Given the description of an element on the screen output the (x, y) to click on. 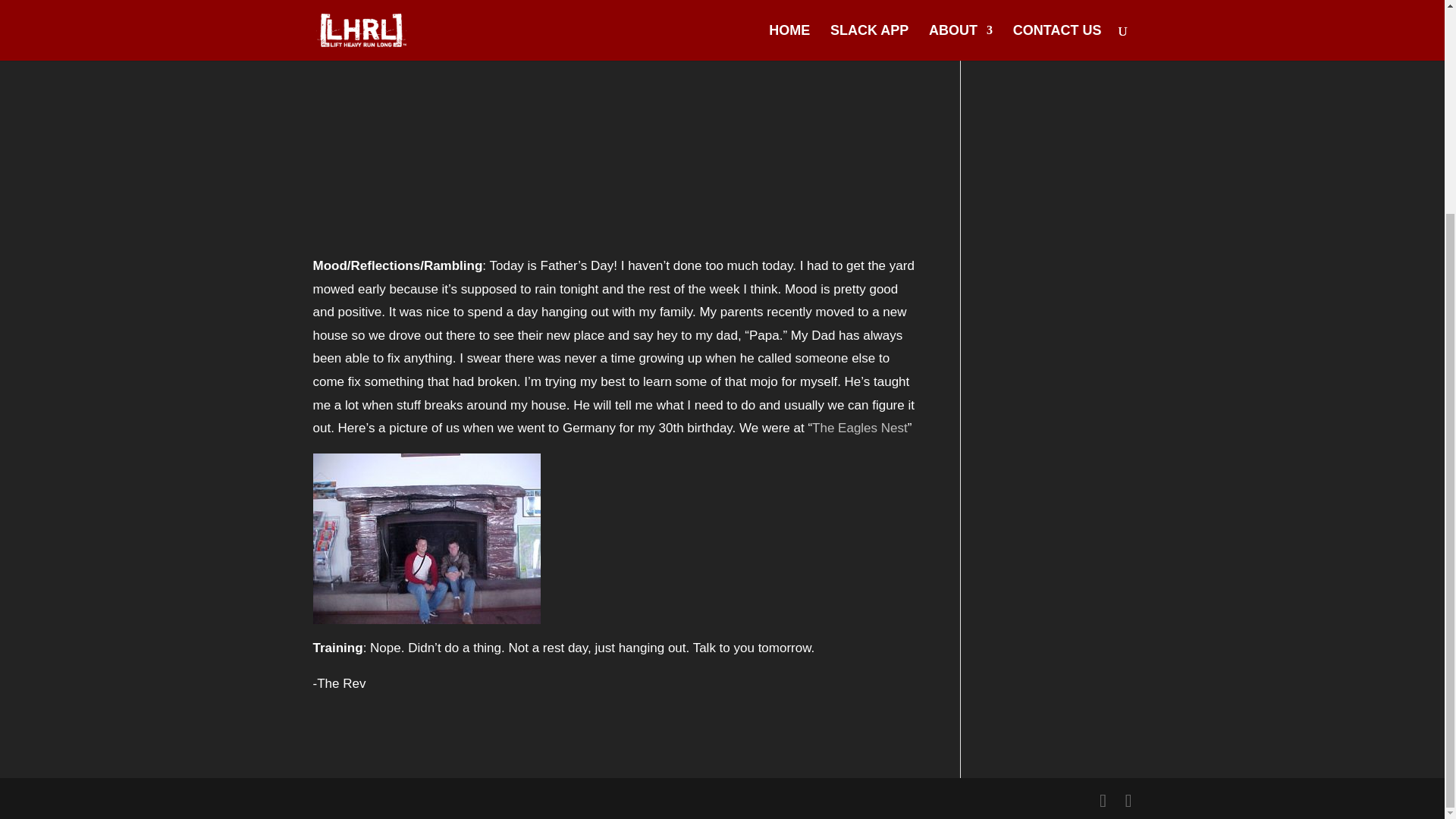
The Eagles Nest (859, 427)
